Given the description of an element on the screen output the (x, y) to click on. 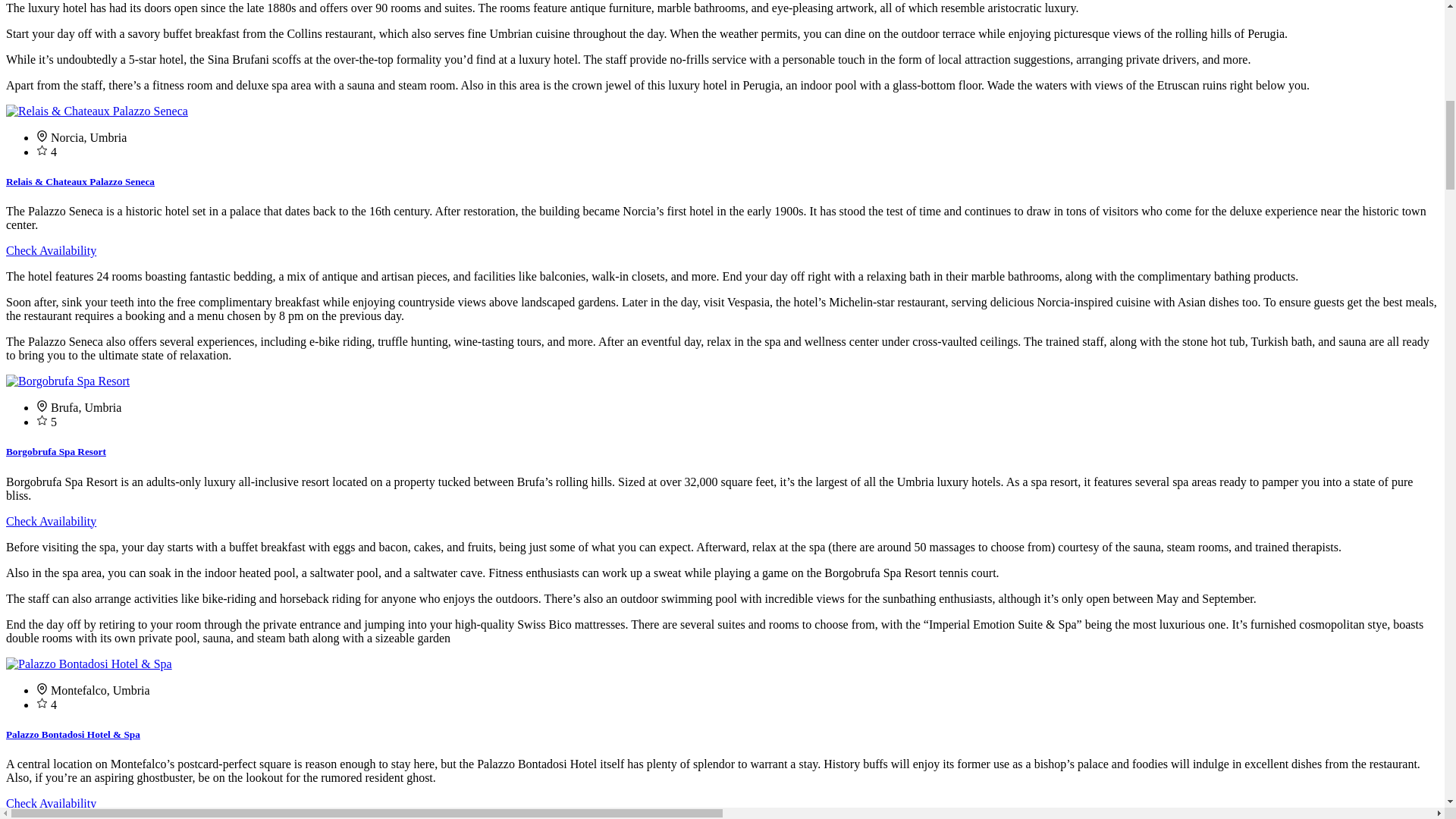
Check Availability (50, 521)
Check Availability (50, 802)
Check Availability (50, 250)
